Given the description of an element on the screen output the (x, y) to click on. 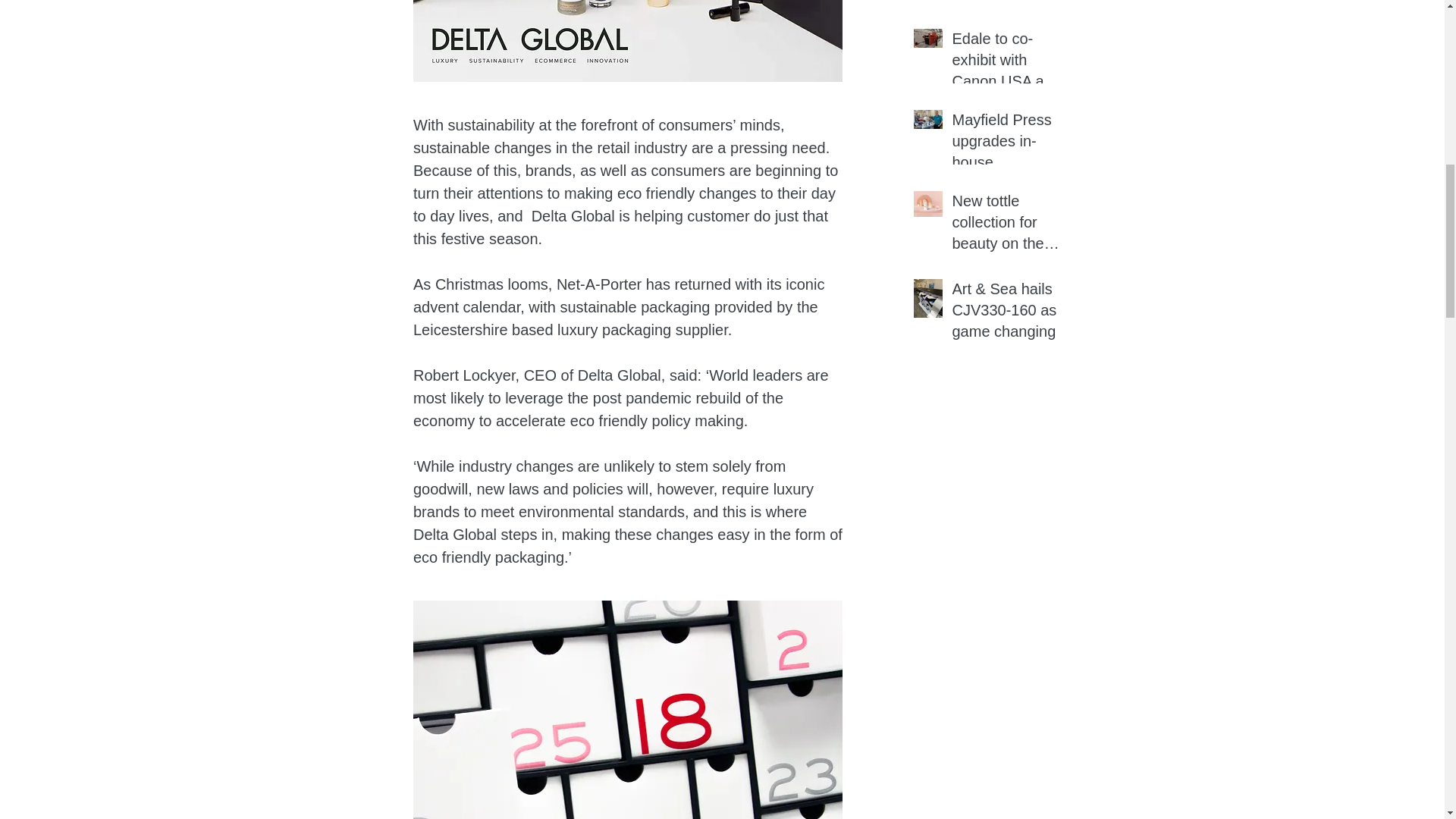
New tottle collection for beauty on the go (1006, 225)
